Given the description of an element on the screen output the (x, y) to click on. 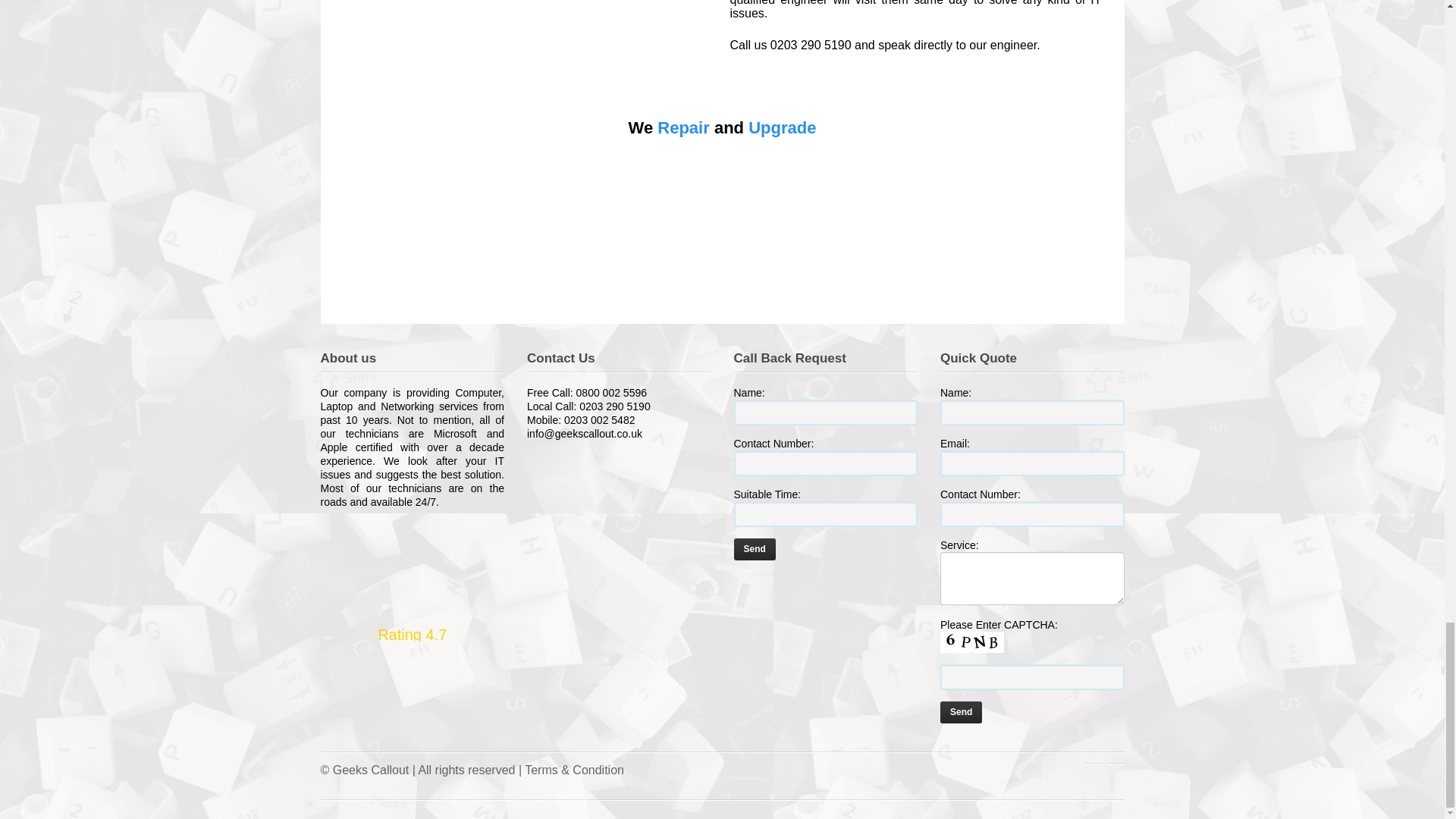
kingston, London (528, 22)
Send (754, 549)
DMCA.com Protection Status (825, 592)
Send (960, 712)
